Given the description of an element on the screen output the (x, y) to click on. 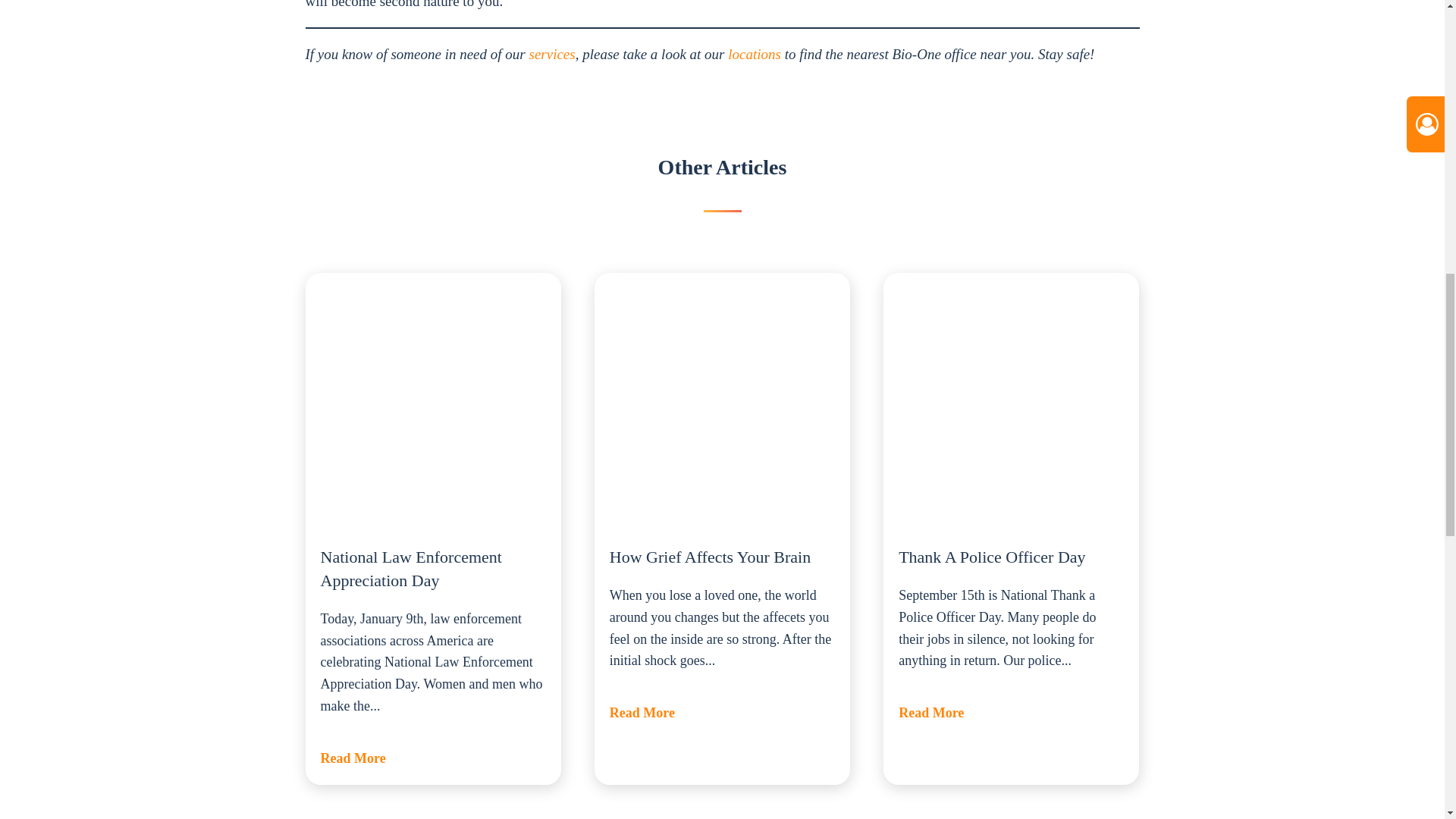
services (551, 53)
